Given the description of an element on the screen output the (x, y) to click on. 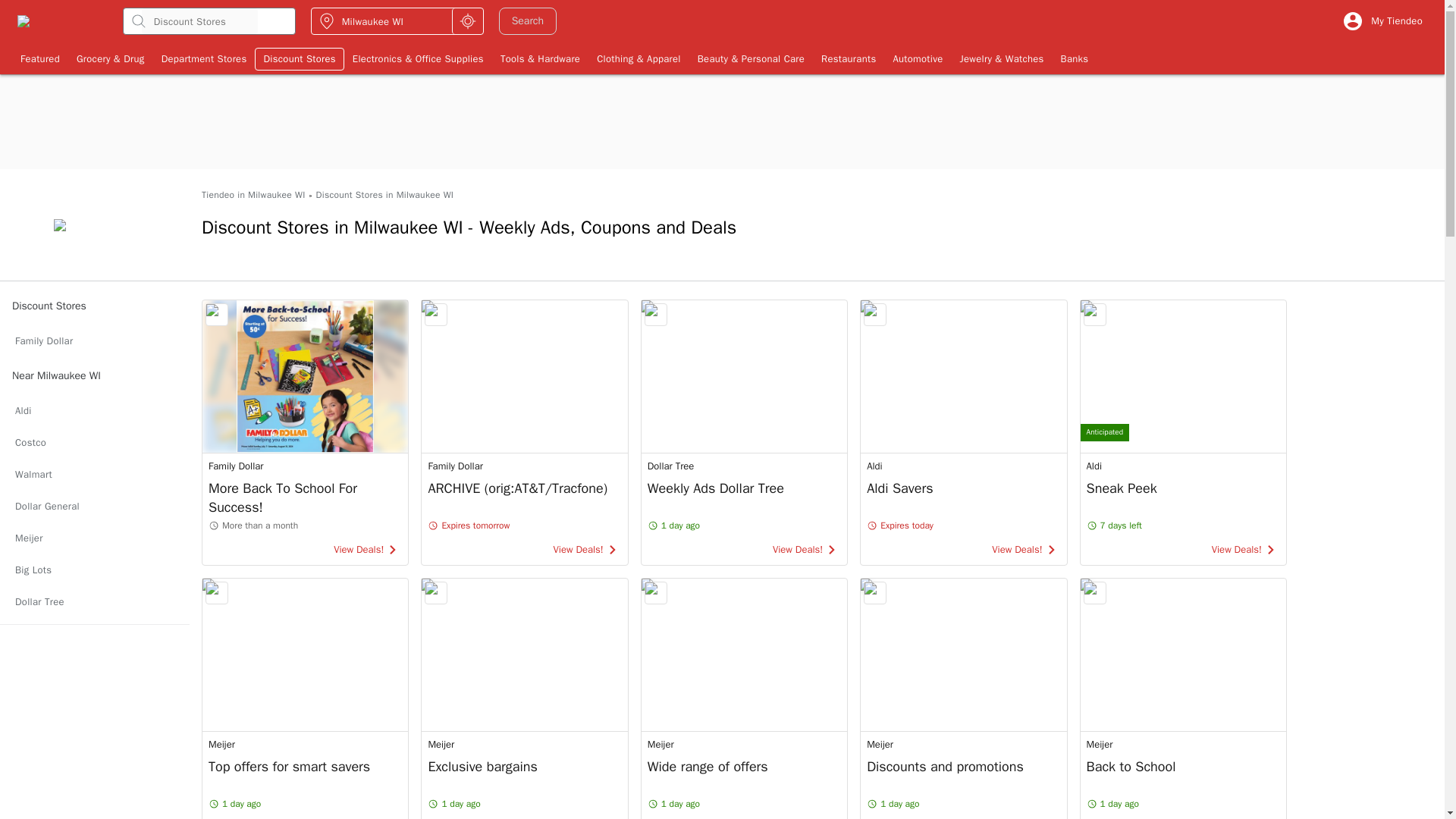
Restaurants (847, 58)
Automotive (916, 58)
Discount Stores (298, 58)
Tiendeo in Milwaukee WI (253, 195)
Banks (1074, 58)
Costco (94, 442)
Aldi (94, 410)
Discount Stores in Milwaukee WI (384, 195)
Featured (39, 58)
Meijer (94, 538)
Department Stores (204, 58)
Walmart (94, 474)
Dollar Tree (94, 602)
Dollar General (94, 506)
My Tiendeo (1381, 21)
